Given the description of an element on the screen output the (x, y) to click on. 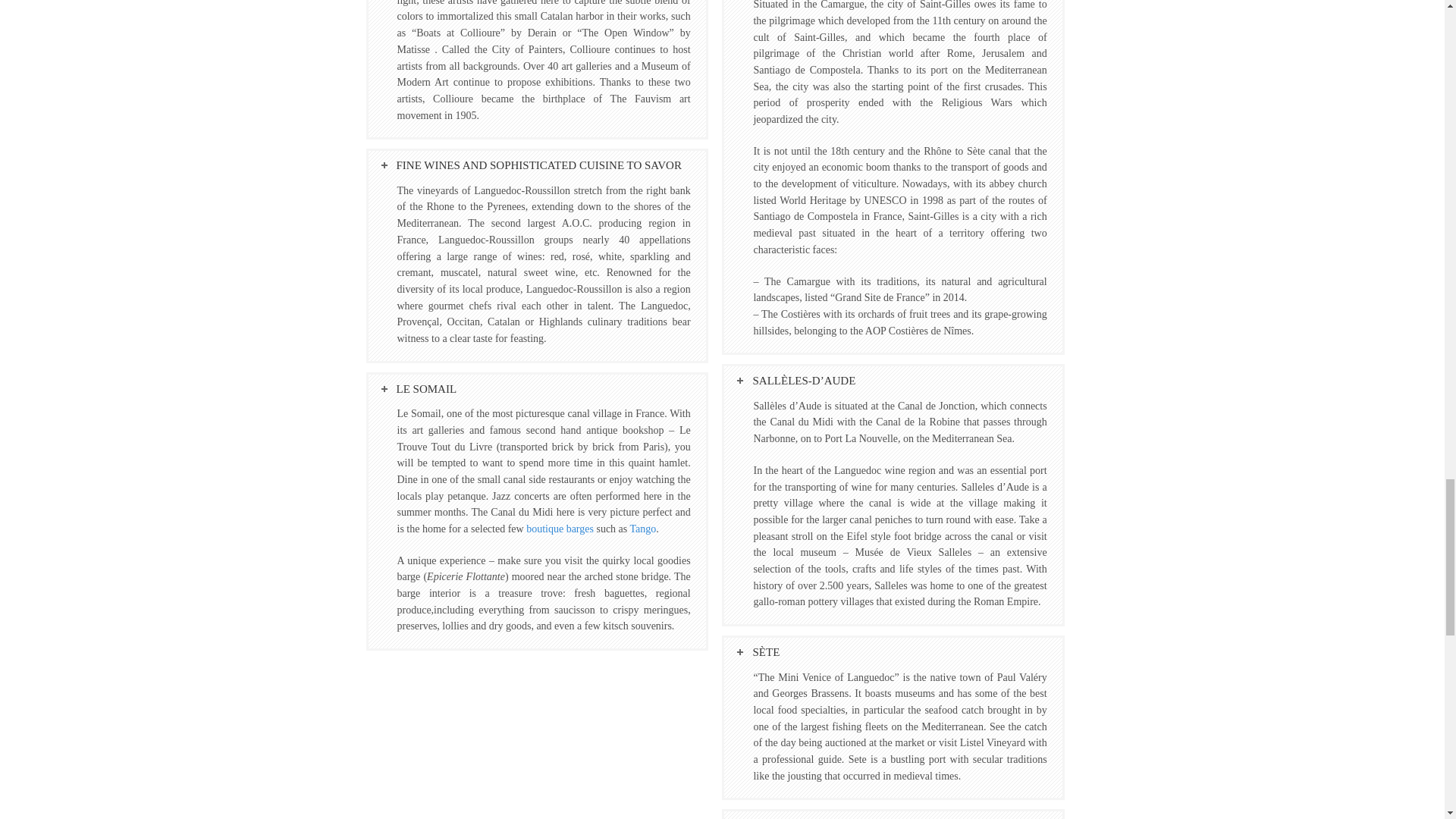
Tango (643, 528)
boutique barges (559, 528)
